Given the description of an element on the screen output the (x, y) to click on. 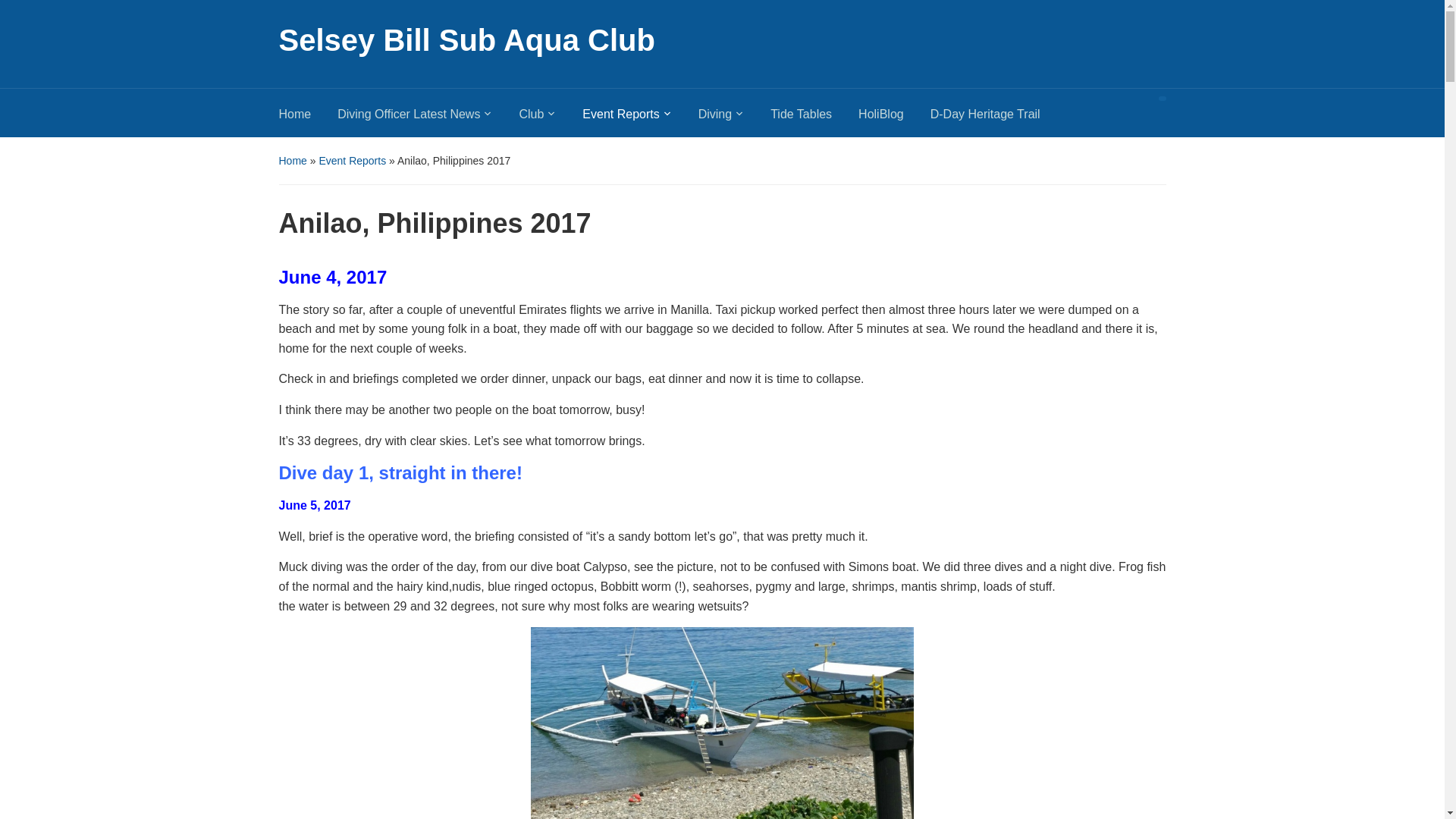
Selsey Bill Sub Aqua Club (467, 39)
Selsey Bill Sub Aqua Club -  (467, 39)
Diving Officer Latest News (427, 118)
Home (308, 118)
